Given the description of an element on the screen output the (x, y) to click on. 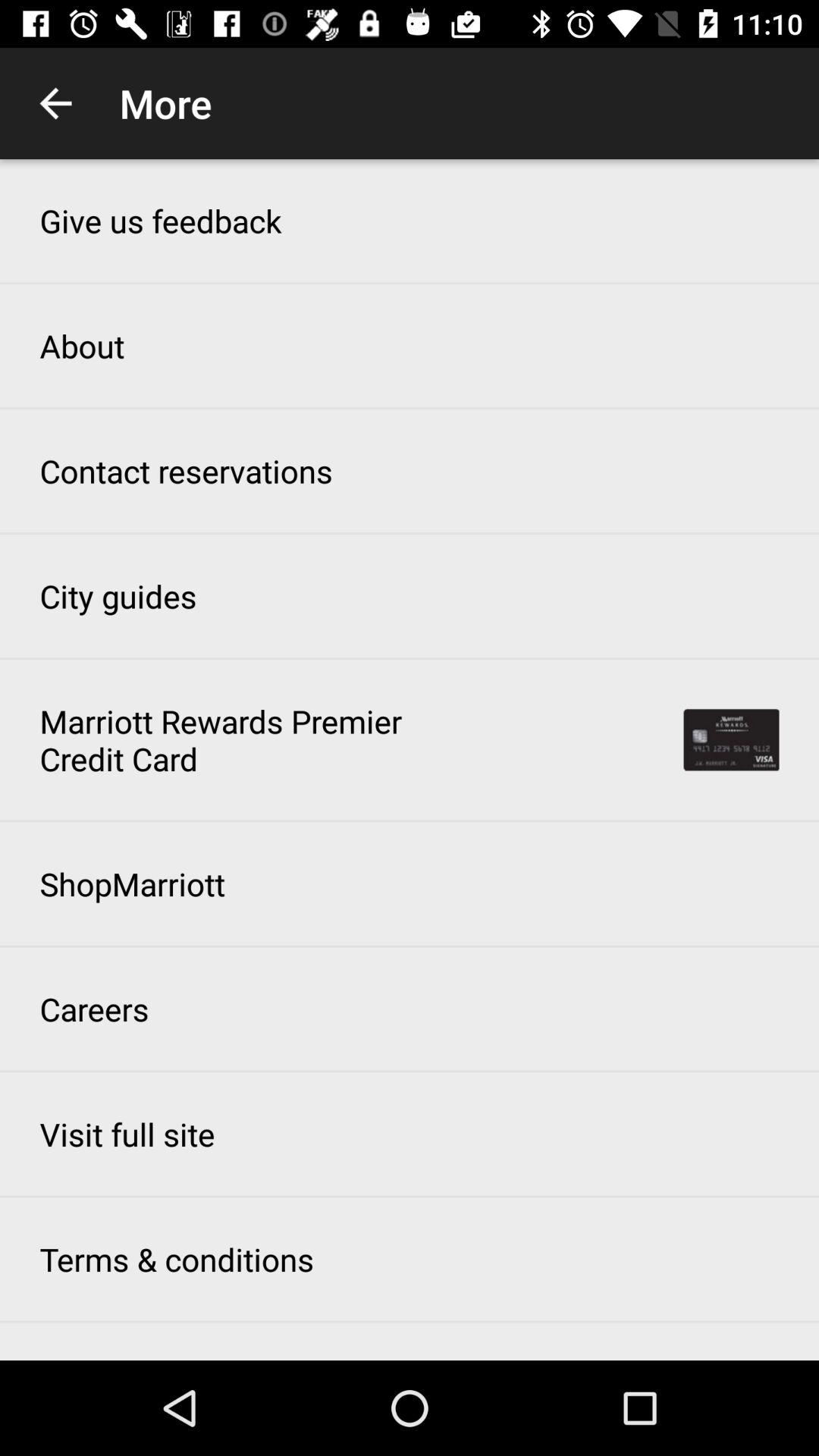
flip to the about (81, 345)
